Given the description of an element on the screen output the (x, y) to click on. 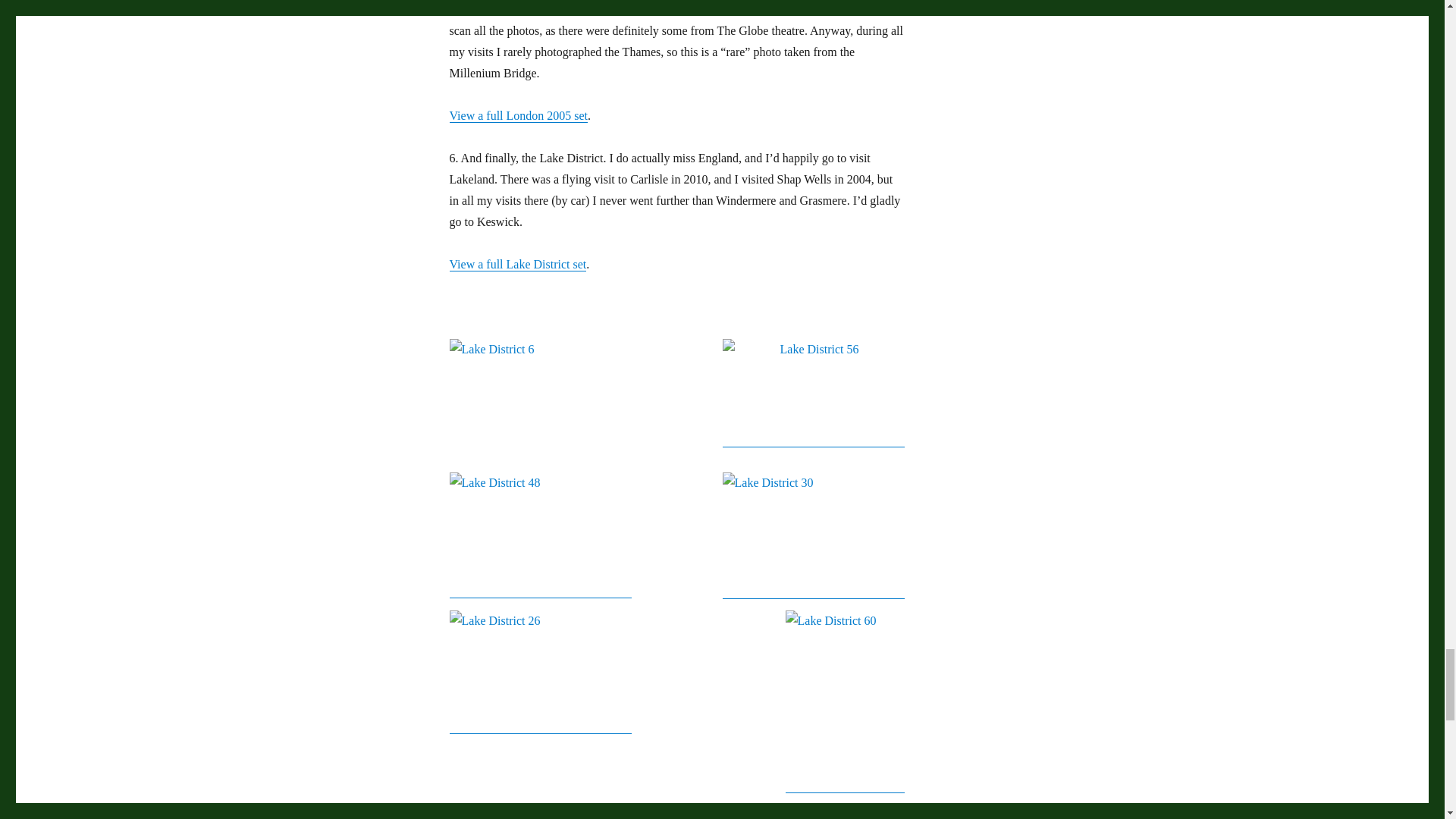
Lake District 6 by loscuadernosdejulia, on Flickr (676, 395)
Lake District 56 by loscuadernosdejulia, on Flickr (813, 392)
Lake District 26 by loscuadernosdejulia, on Flickr (539, 671)
Lake District 30 by loscuadernosdejulia, on Flickr (813, 535)
Lake District 48 by loscuadernosdejulia, on Flickr (539, 534)
